Given the description of an element on the screen output the (x, y) to click on. 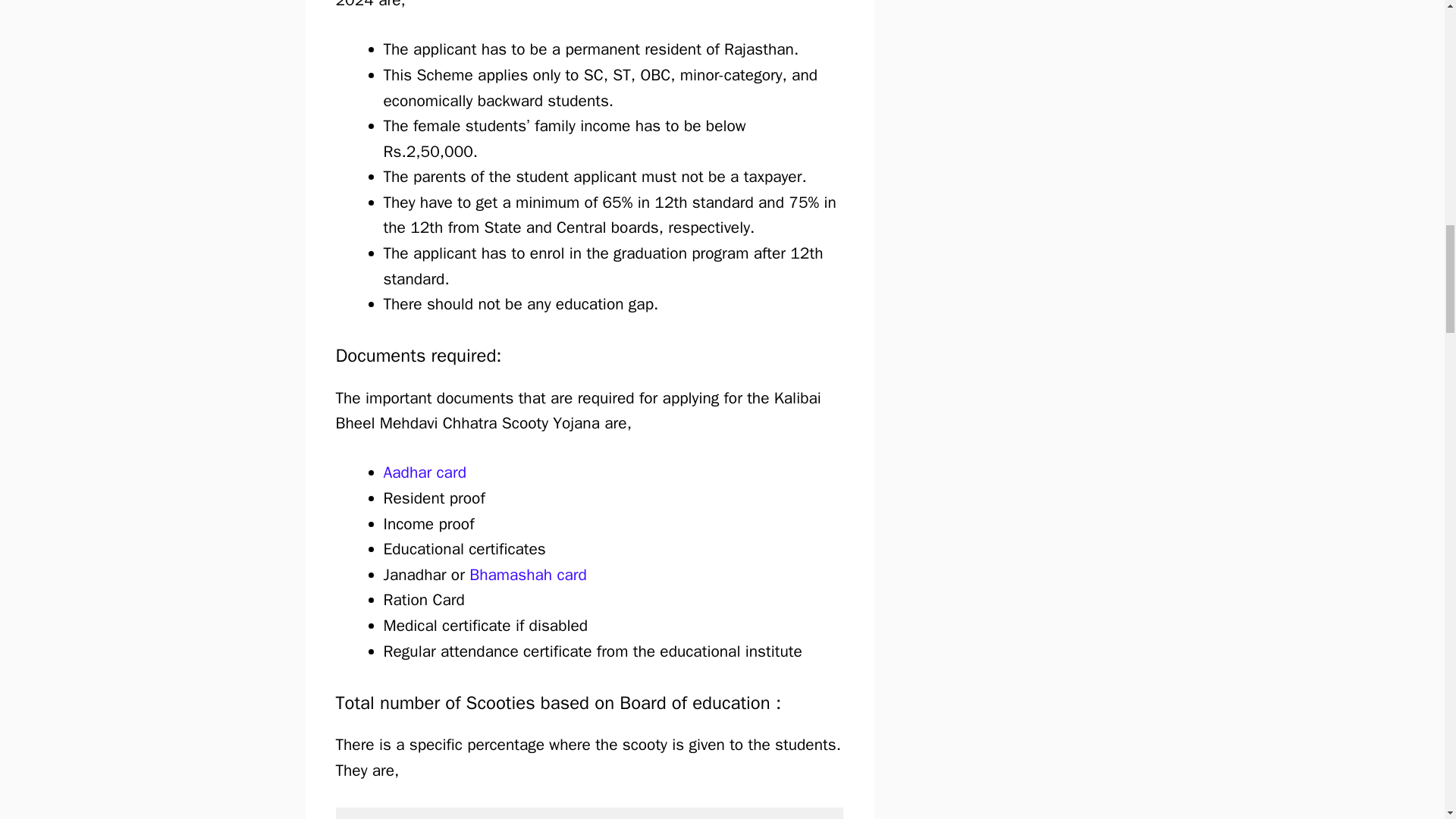
Aadhar card (424, 472)
Bhamashah card (527, 574)
